Given the description of an element on the screen output the (x, y) to click on. 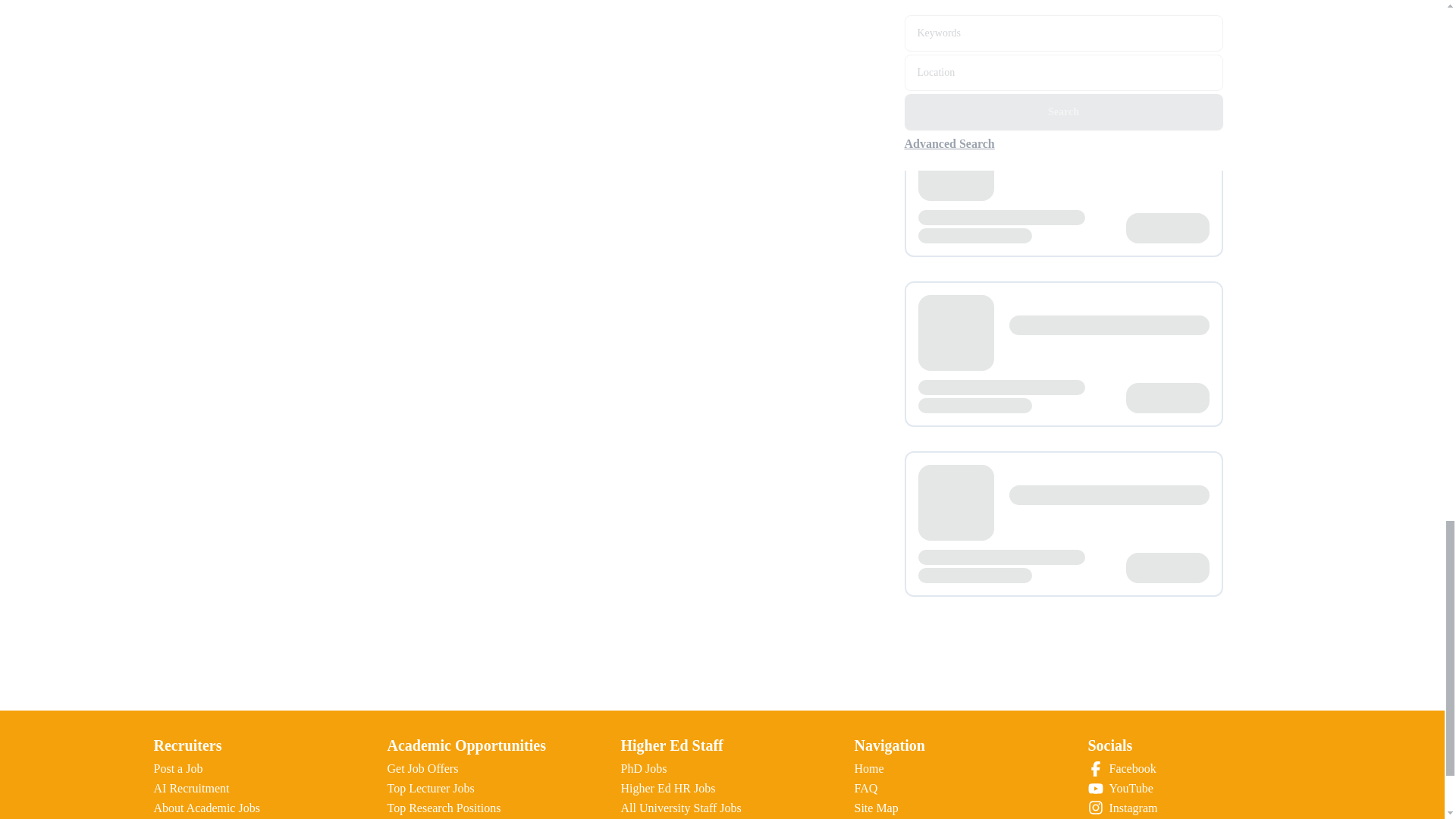
Post a Job (177, 768)
AI Recruitment (190, 788)
Top Research Positions (443, 807)
Home (868, 768)
About Academic Jobs (205, 807)
Higher Ed HR Jobs (667, 788)
FAQ (865, 788)
Site Map (875, 807)
PhD Jobs (643, 768)
YouTube (1188, 788)
All University Staff Jobs (680, 807)
Top Lecturer Jobs (430, 788)
Facebook (1188, 768)
Get Job Offers (422, 768)
